Given the description of an element on the screen output the (x, y) to click on. 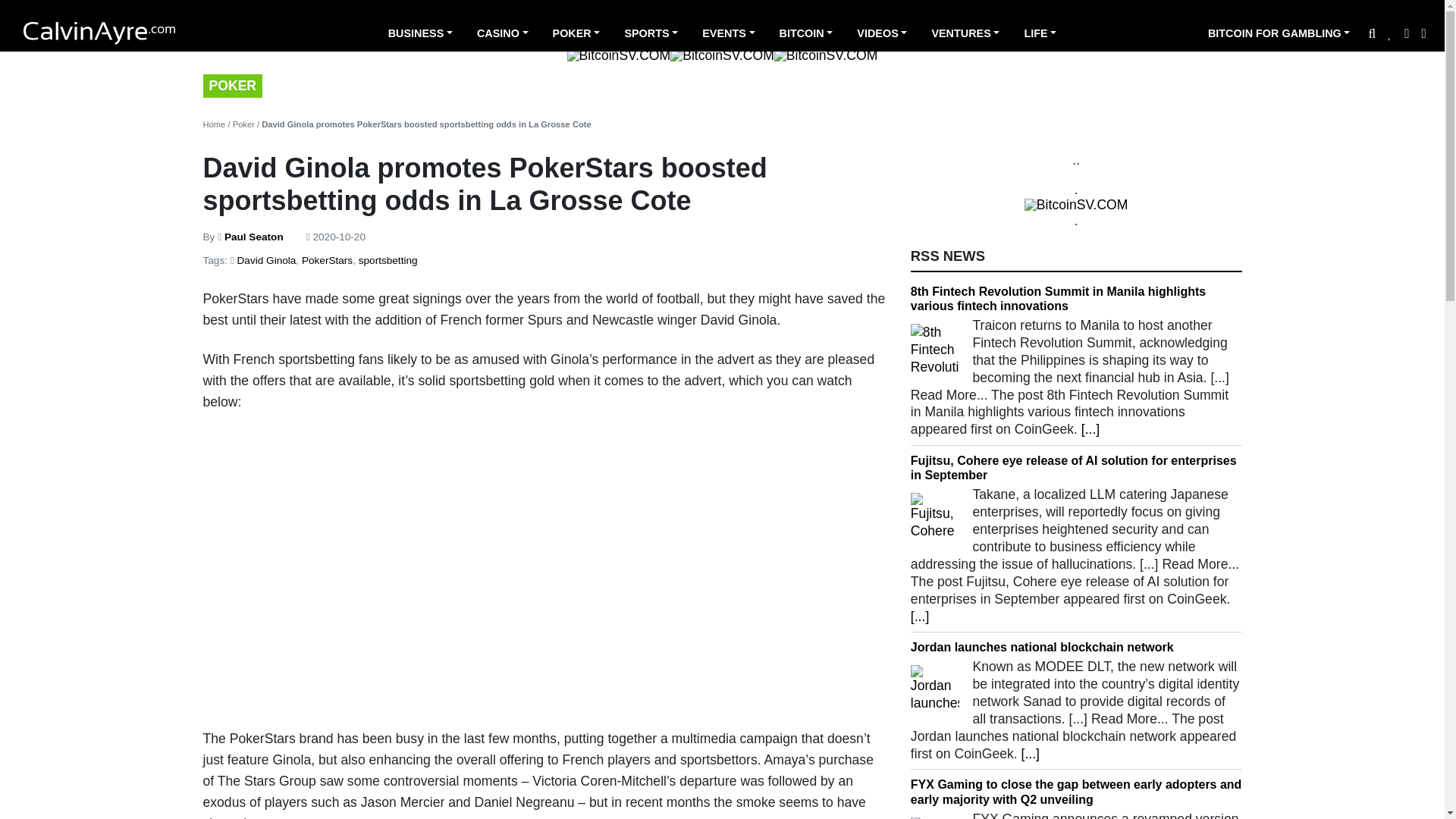
Bitcoin (806, 35)
Videos (881, 35)
VENTURES (964, 35)
Sports (650, 35)
BITCOIN FOR GAMBLING (1278, 35)
VIDEOS (881, 35)
CalvinAyre.com (98, 33)
Bitcoin for Gambling (1278, 35)
Poker (576, 35)
SPORTS (650, 35)
Casino (502, 35)
Business (419, 35)
EVENTS (728, 35)
POKER (576, 35)
BUSINESS (419, 35)
